Given the description of an element on the screen output the (x, y) to click on. 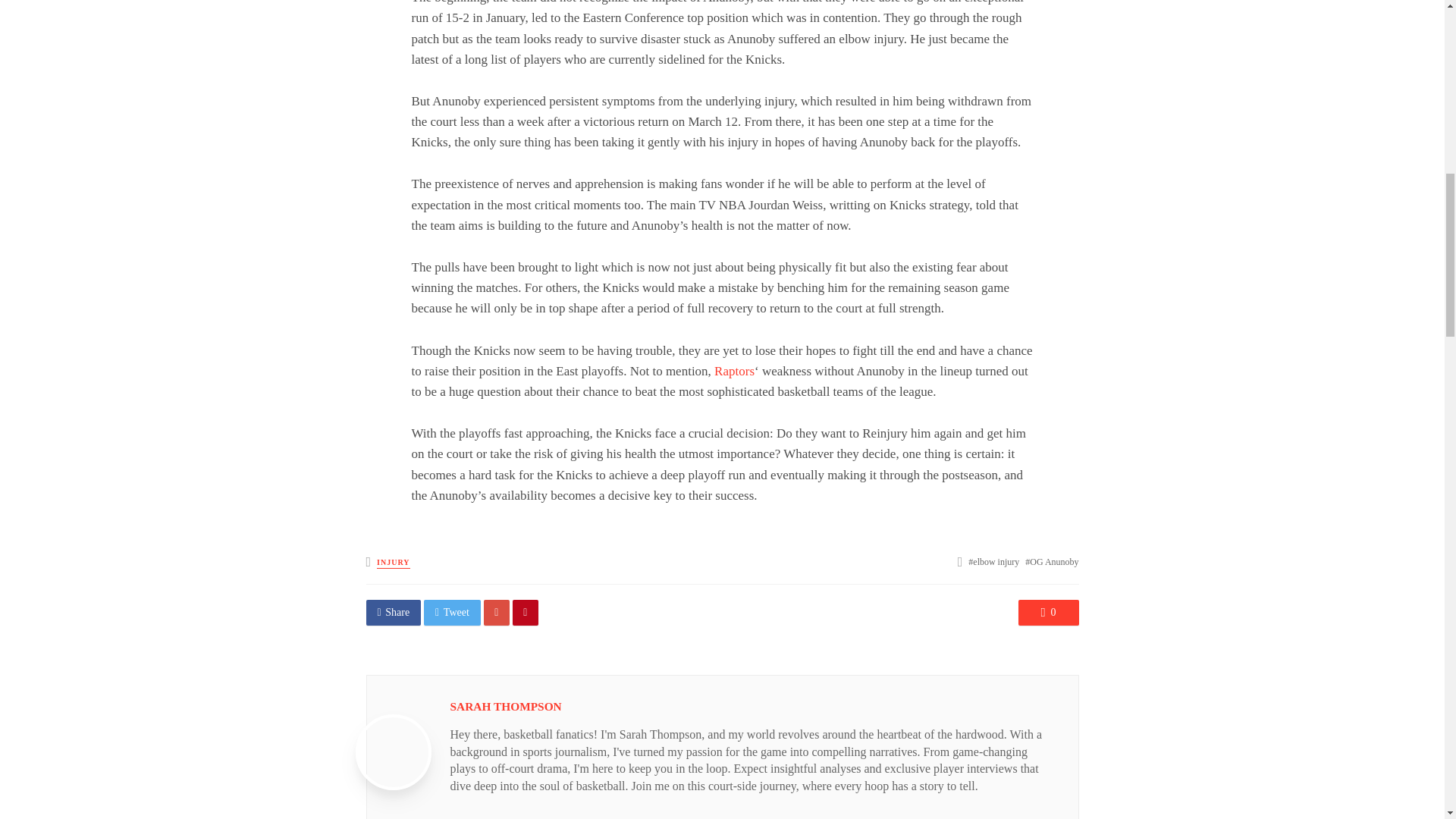
Share on Pinterest (525, 612)
elbow injury (993, 561)
Share (392, 612)
0 Comments (1047, 612)
OG Anunoby (1051, 561)
SARAH THOMPSON (505, 706)
Share on Twitter (451, 612)
Raptors (734, 370)
Share on Facebook (392, 612)
Tweet (451, 612)
